Given the description of an element on the screen output the (x, y) to click on. 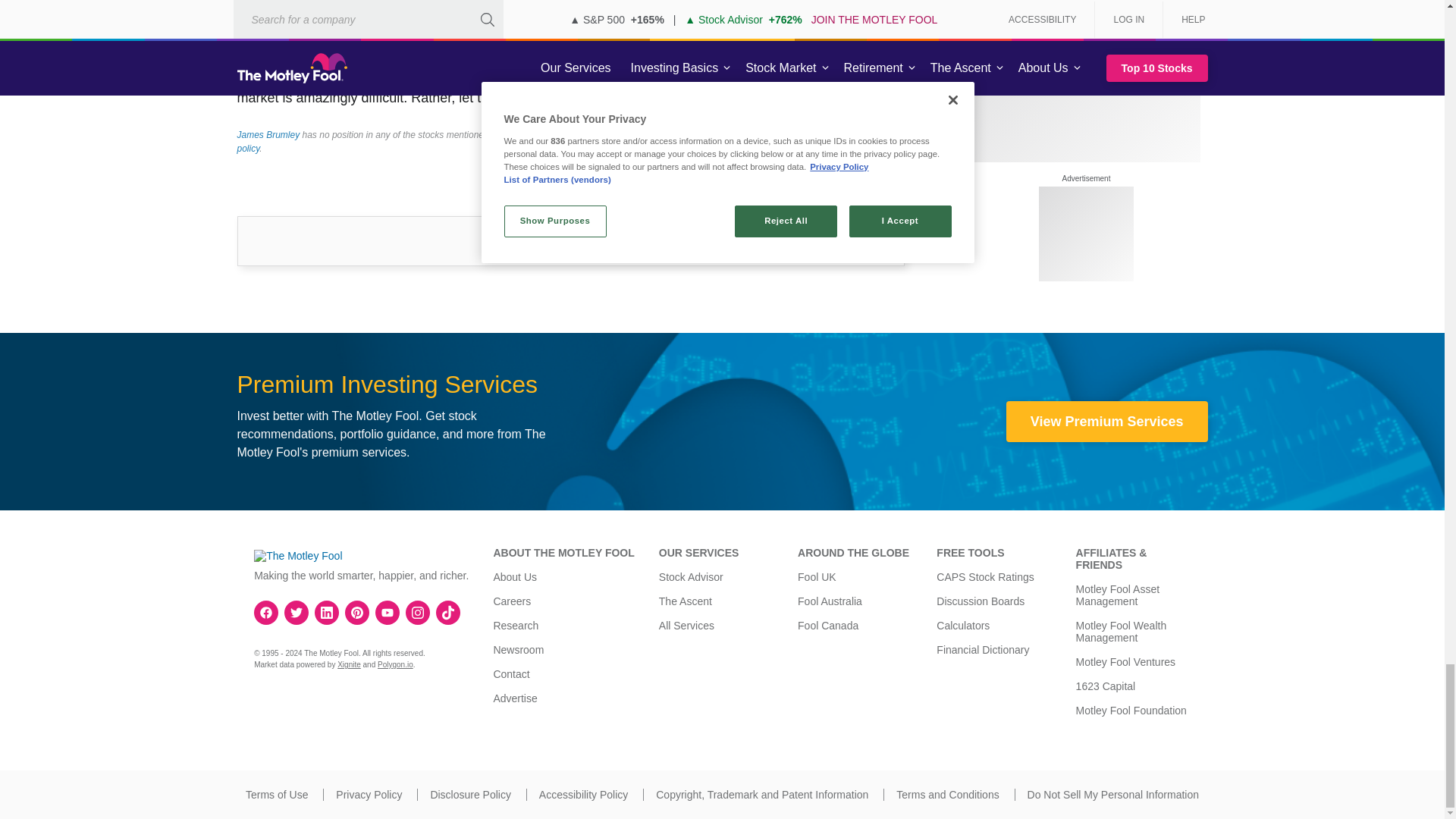
Accessibility Policy (582, 794)
Terms and Conditions (947, 794)
Disclosure Policy (470, 794)
Do Not Sell My Personal Information. (1112, 794)
Copyright, Trademark and Patent Information (761, 794)
Privacy Policy (368, 794)
Terms of Use (276, 794)
